Given the description of an element on the screen output the (x, y) to click on. 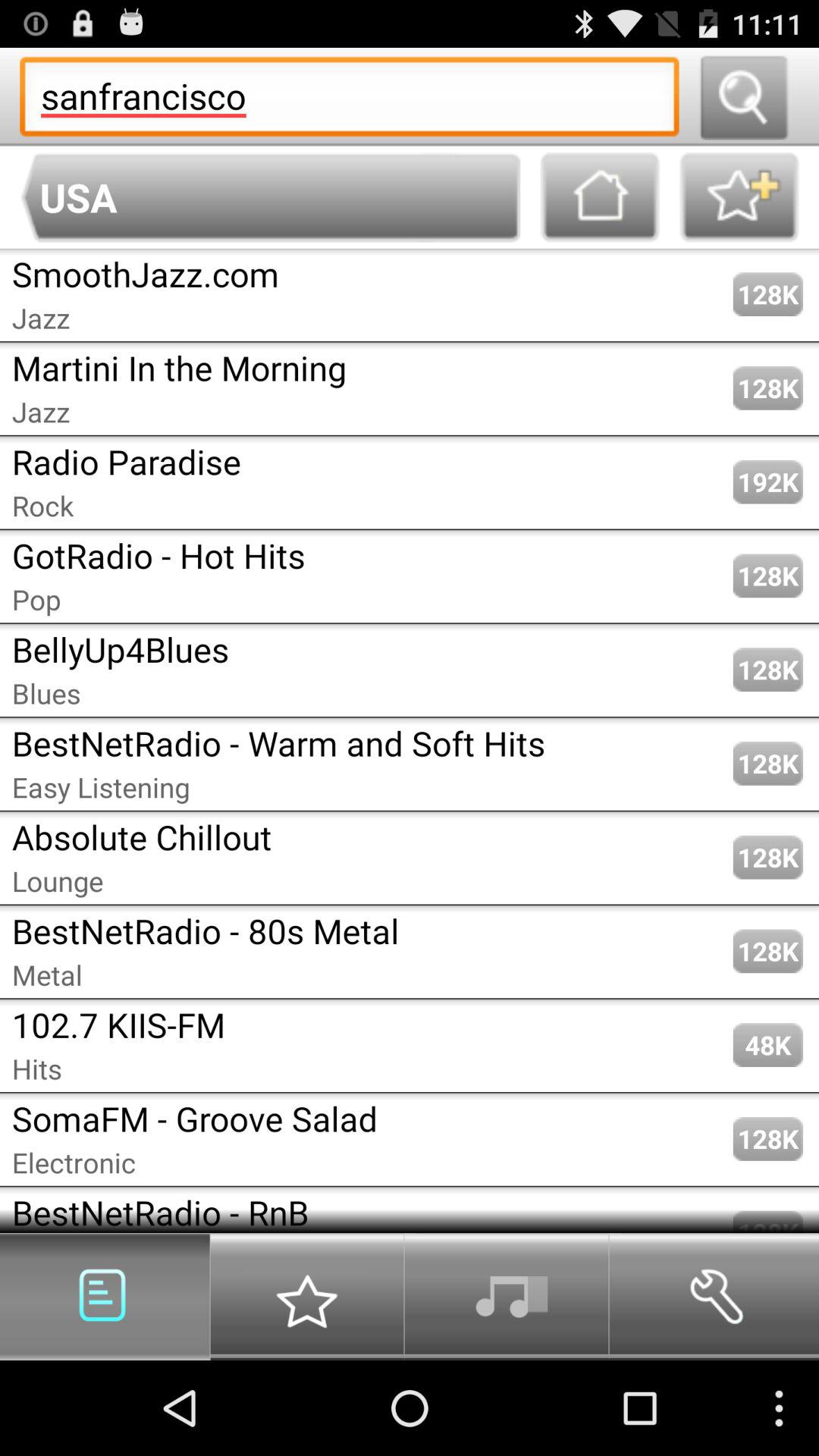
home (599, 197)
